Given the description of an element on the screen output the (x, y) to click on. 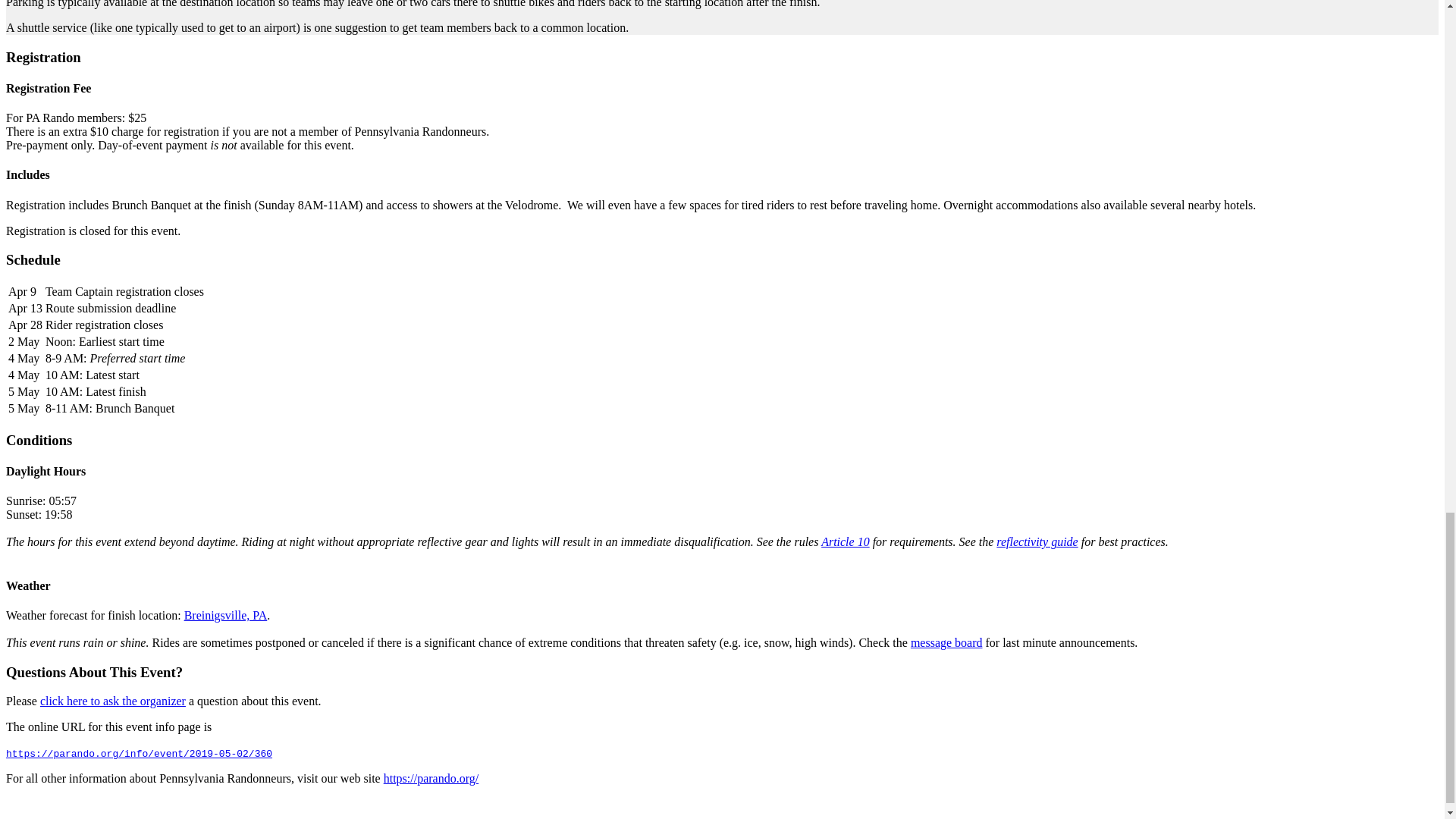
reflectivity guide (1036, 541)
Article 10 (845, 541)
message board (946, 642)
click here to ask the organizer (113, 700)
Breinigsville, PA (225, 615)
